Given the description of an element on the screen output the (x, y) to click on. 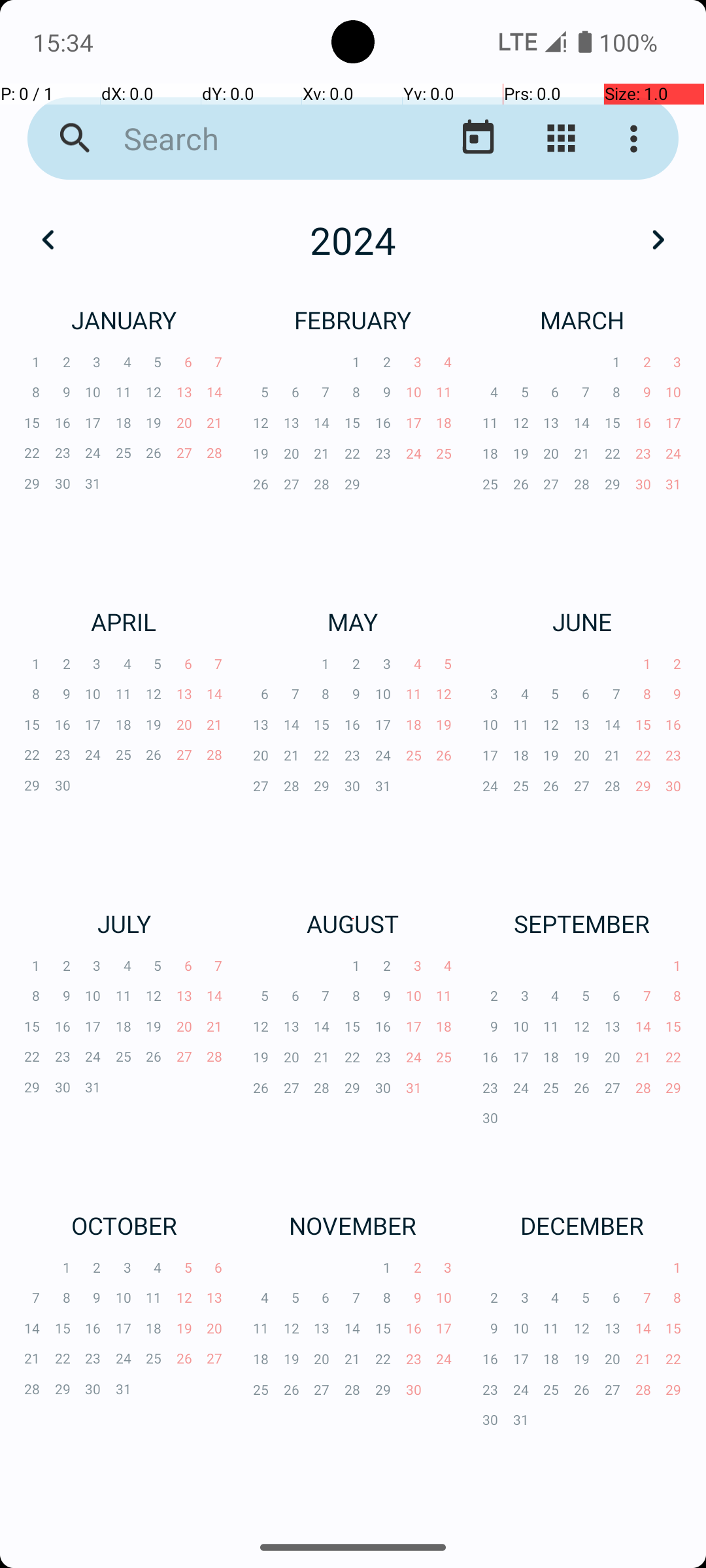
JANUARY Element type: android.widget.TextView (123, 319)
FEBRUARY Element type: android.widget.TextView (352, 319)
MARCH Element type: android.widget.TextView (582, 319)
APRIL Element type: android.widget.TextView (123, 621)
MAY Element type: android.widget.TextView (352, 621)
JUNE Element type: android.widget.TextView (582, 621)
JULY Element type: android.widget.TextView (123, 923)
AUGUST Element type: android.widget.TextView (352, 923)
SEPTEMBER Element type: android.widget.TextView (582, 923)
NOVEMBER Element type: android.widget.TextView (352, 1224)
DECEMBER Element type: android.widget.TextView (582, 1224)
